Given the description of an element on the screen output the (x, y) to click on. 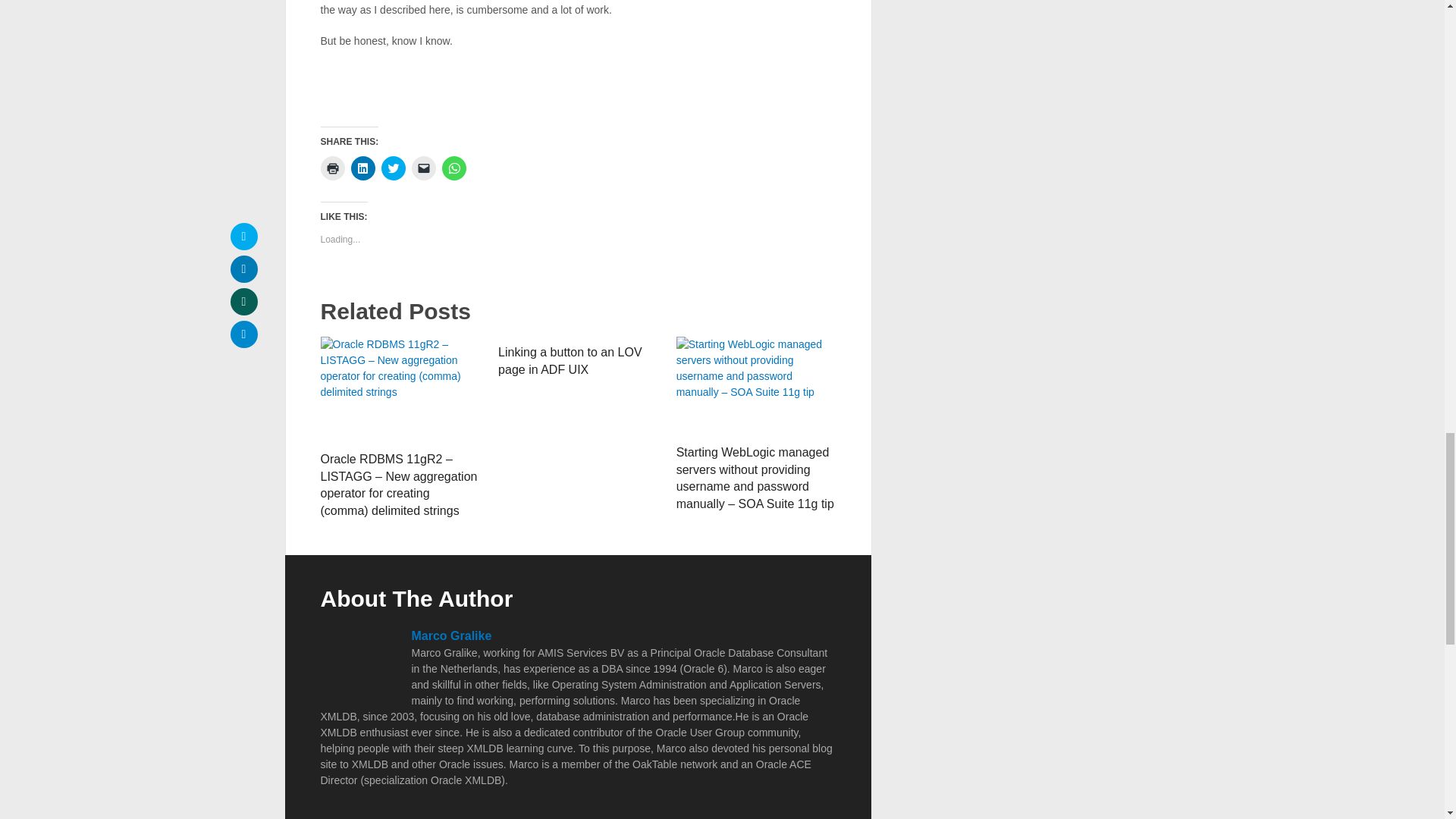
Click to email a link to a friend (422, 168)
Linking a button to an LOV page in ADF UIX (569, 360)
Click to share on Twitter (392, 168)
Click to share on LinkedIn (362, 168)
Click to print (331, 168)
